Given the description of an element on the screen output the (x, y) to click on. 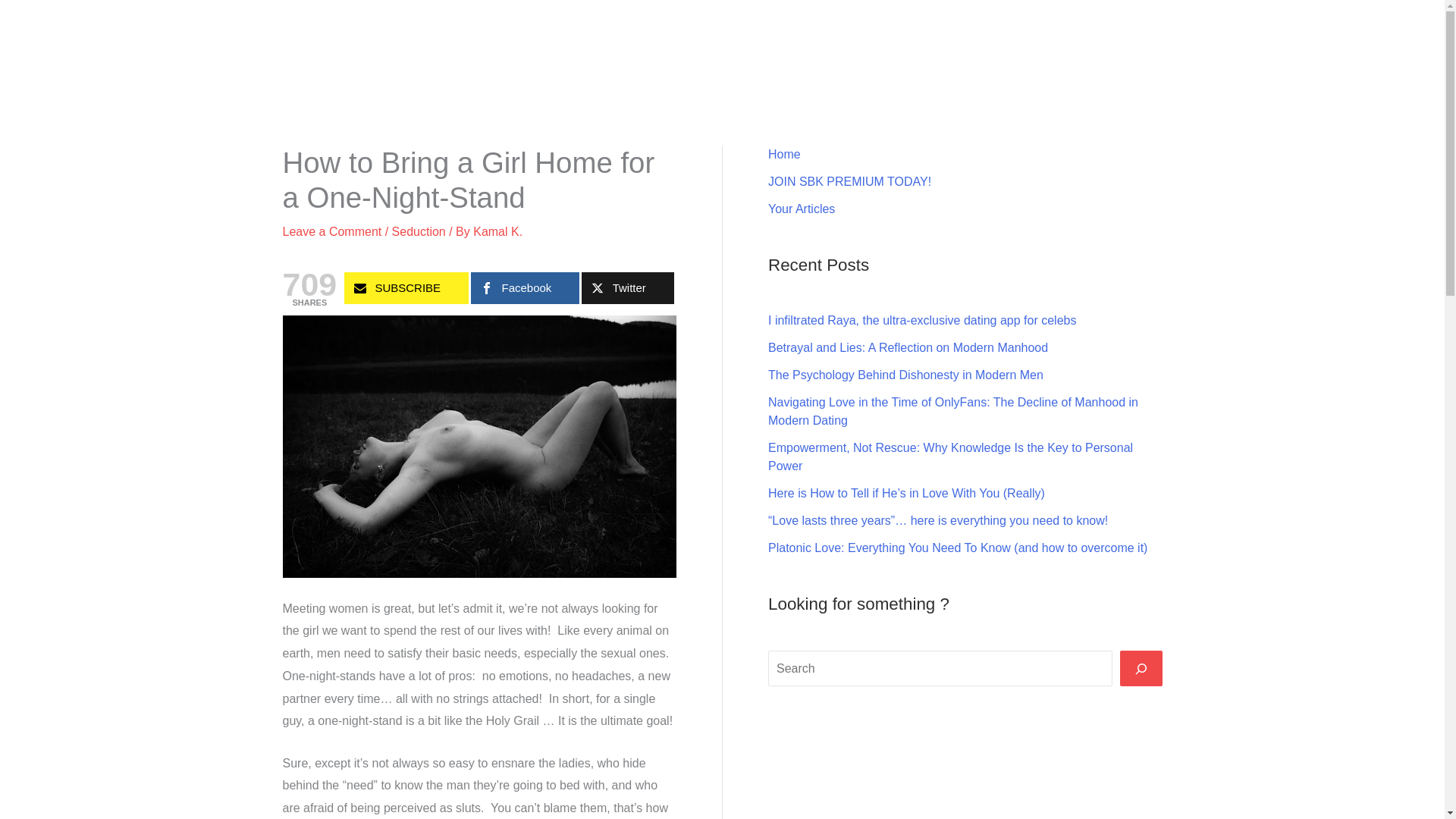
View all posts by Kamal K. (497, 231)
SeductionByKamal (145, 29)
GET SBK PREMIUM TODAY (1206, 30)
HOME (1084, 30)
YOUR ARTICLES (1357, 30)
